Given the description of an element on the screen output the (x, y) to click on. 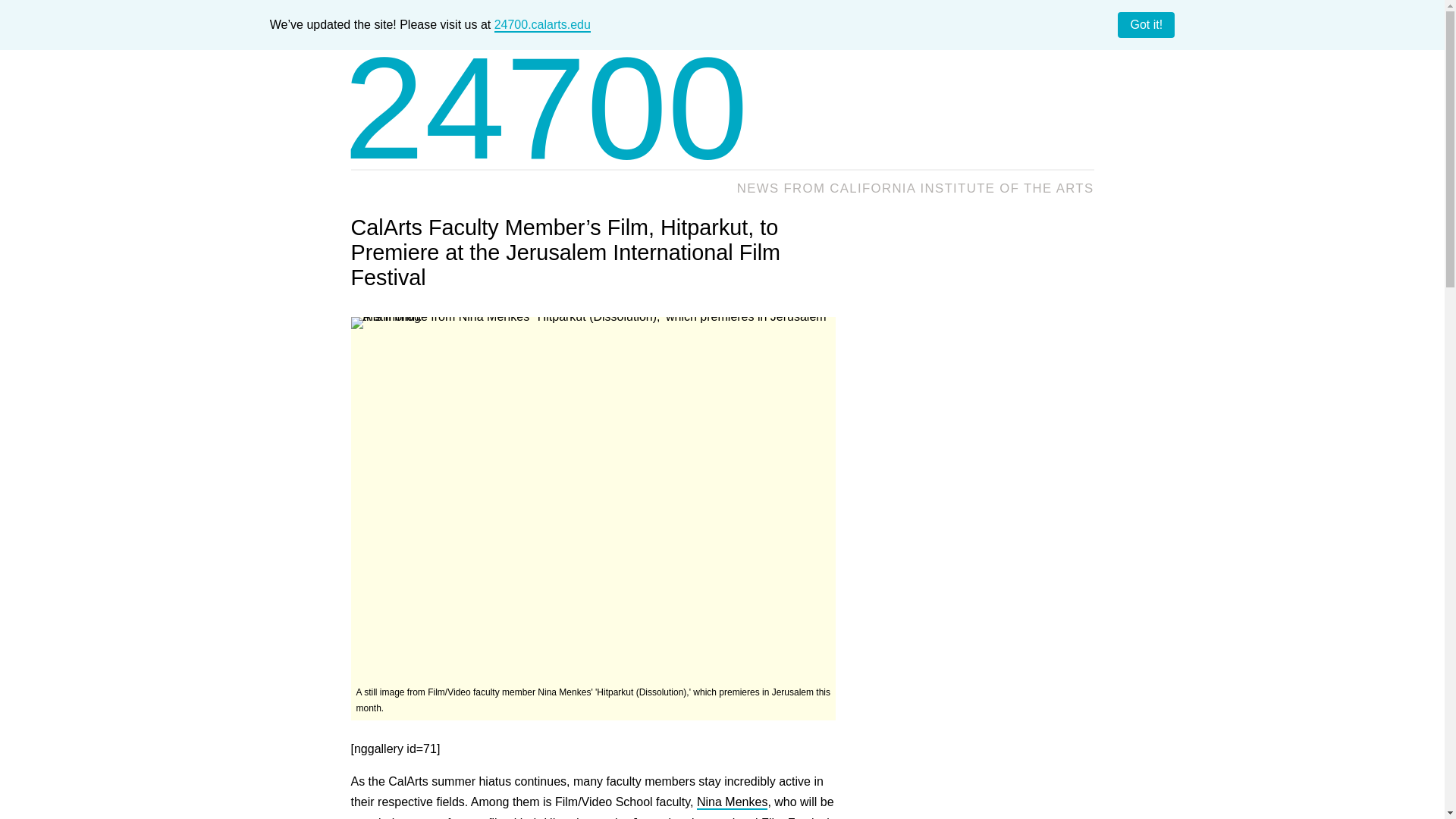
Go (1077, 120)
24700.calarts.edu (543, 25)
Hitparkut (567, 817)
Got it! (1146, 24)
24700 (545, 107)
Nina Menkes (732, 802)
Jerusalem International Film Festival (730, 817)
Go (1077, 120)
